Given the description of an element on the screen output the (x, y) to click on. 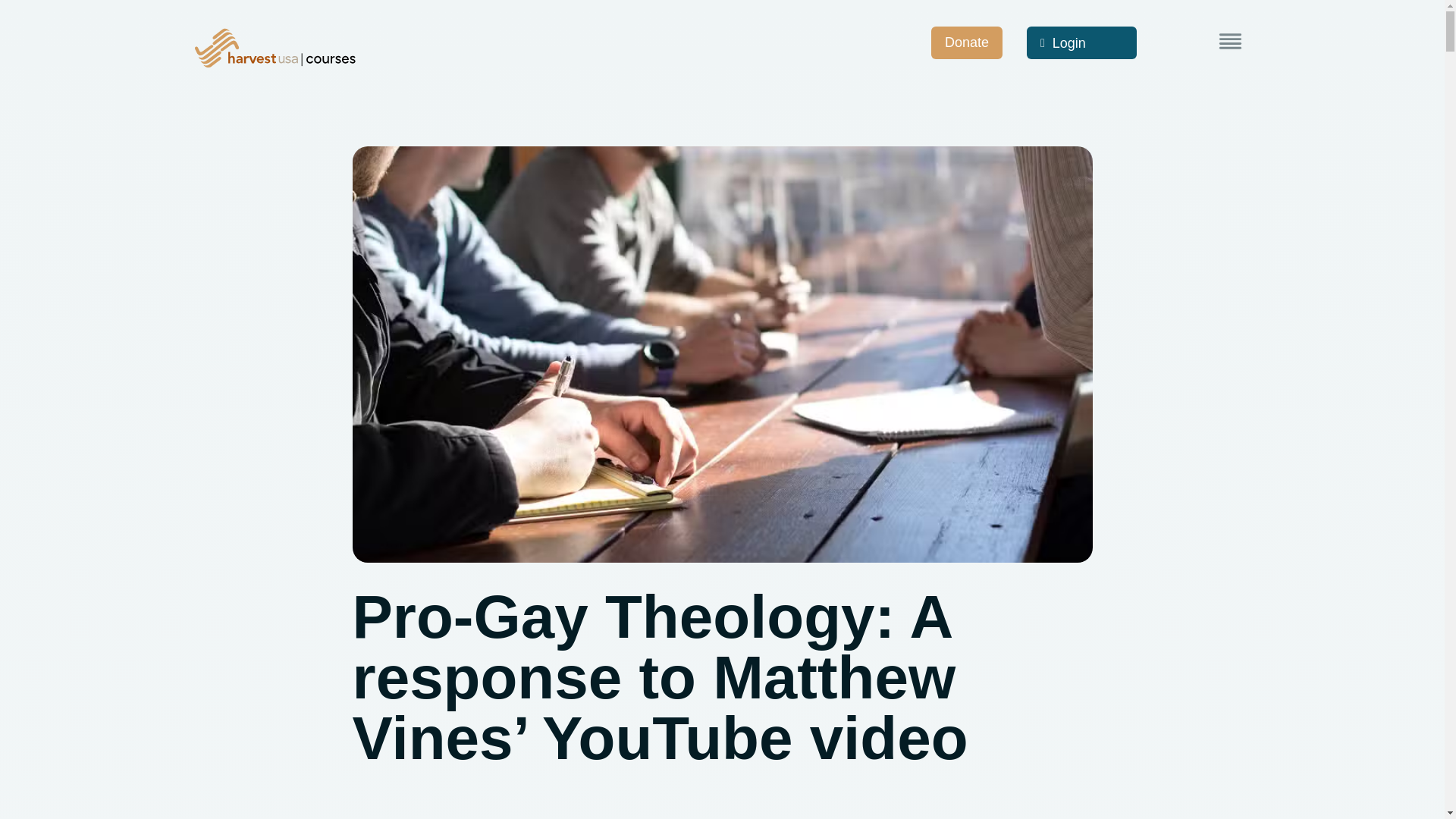
Learn More (1230, 41)
Donate (967, 42)
Login (1081, 42)
